Given the description of an element on the screen output the (x, y) to click on. 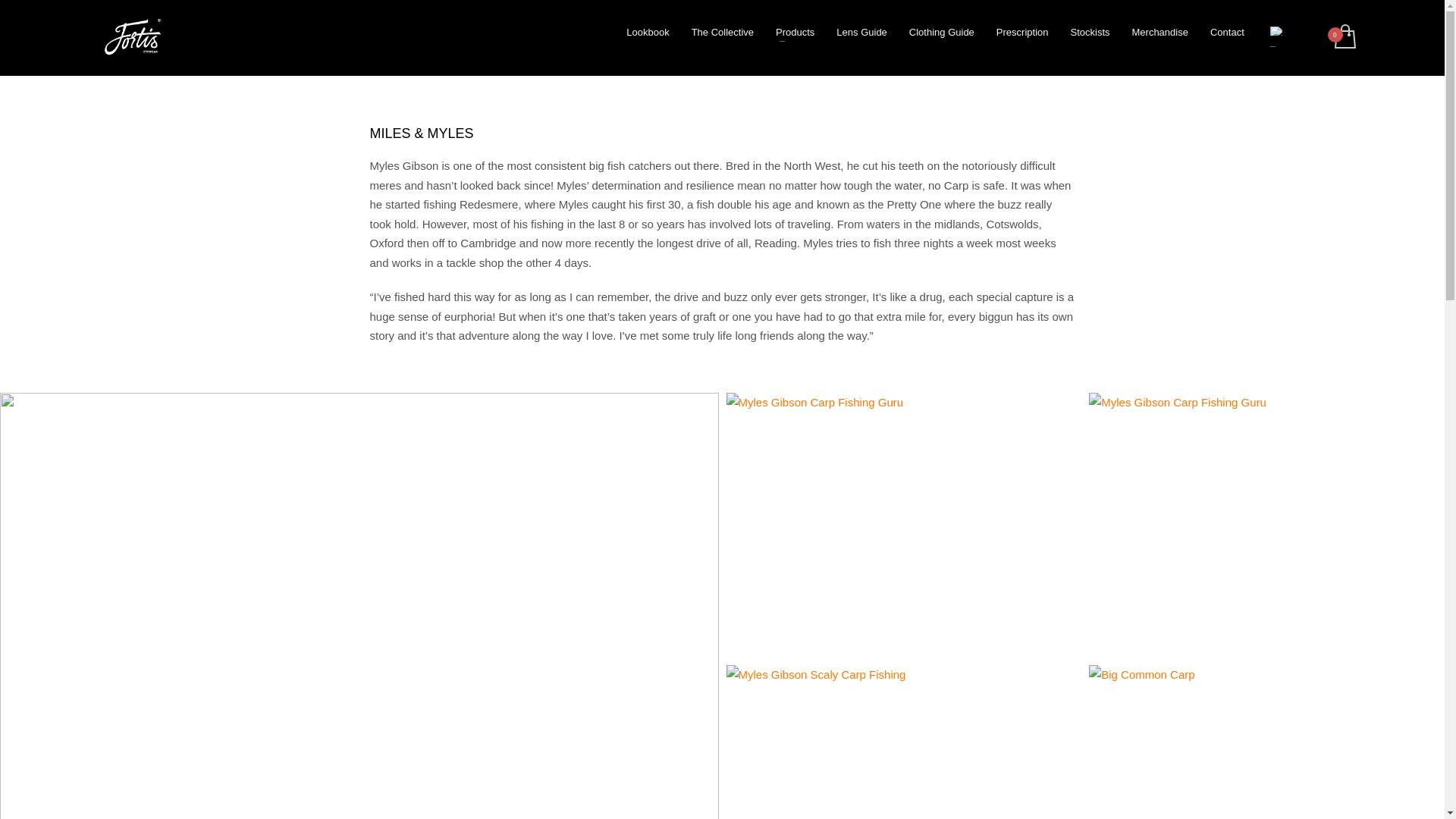
Products (795, 32)
Polarised Fishing Sunglasses (132, 37)
View your shopping cart (1343, 37)
The Collective (722, 32)
Clothing Guide (941, 32)
Prescription (1022, 32)
Lookbook (647, 32)
Lens Guide (861, 32)
Stockists (1089, 32)
